Given the description of an element on the screen output the (x, y) to click on. 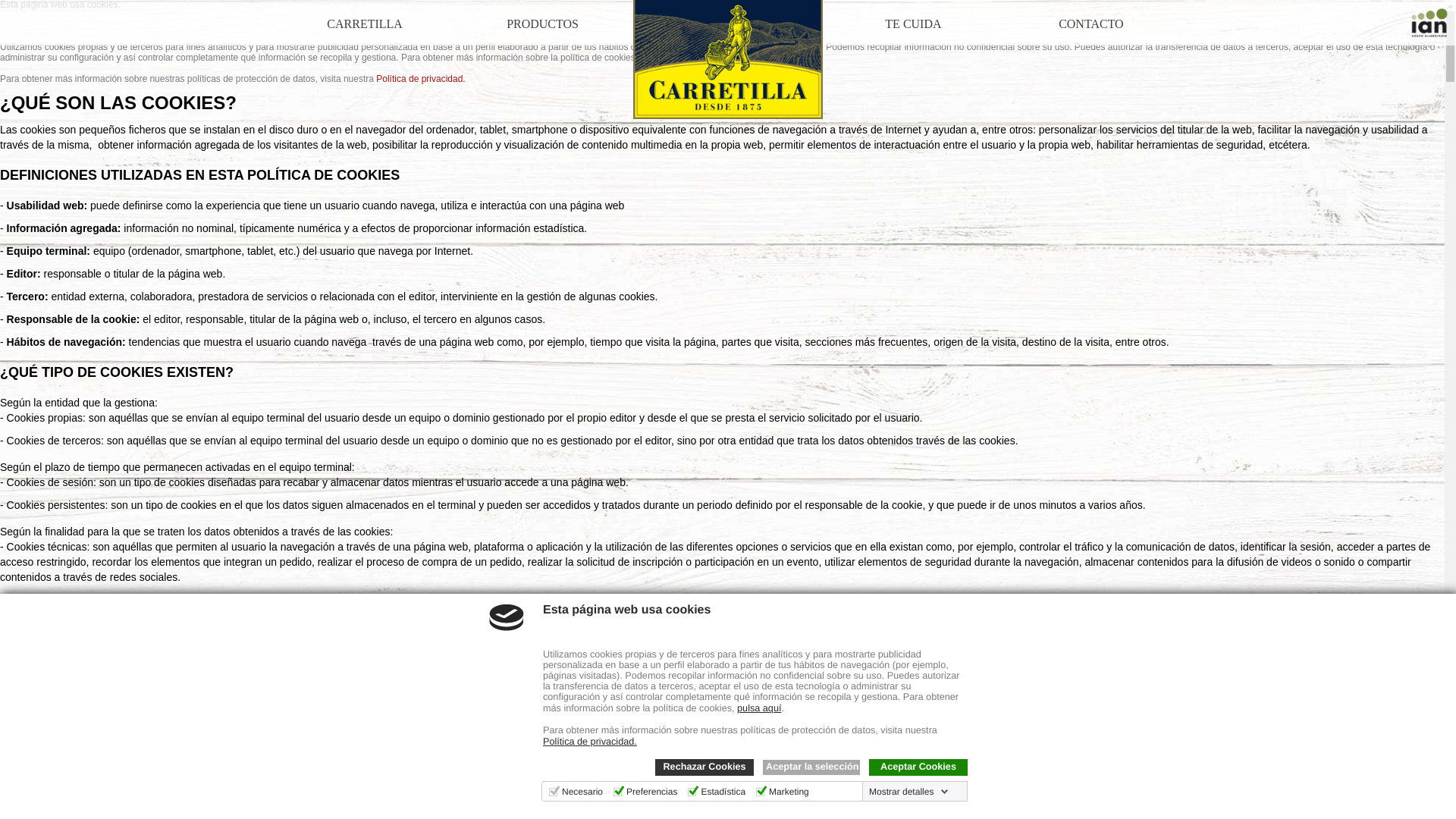
Cambiar tu consentimiento (72, 790)
Cookiebot (298, 814)
Cookiebot (298, 814)
